Given the description of an element on the screen output the (x, y) to click on. 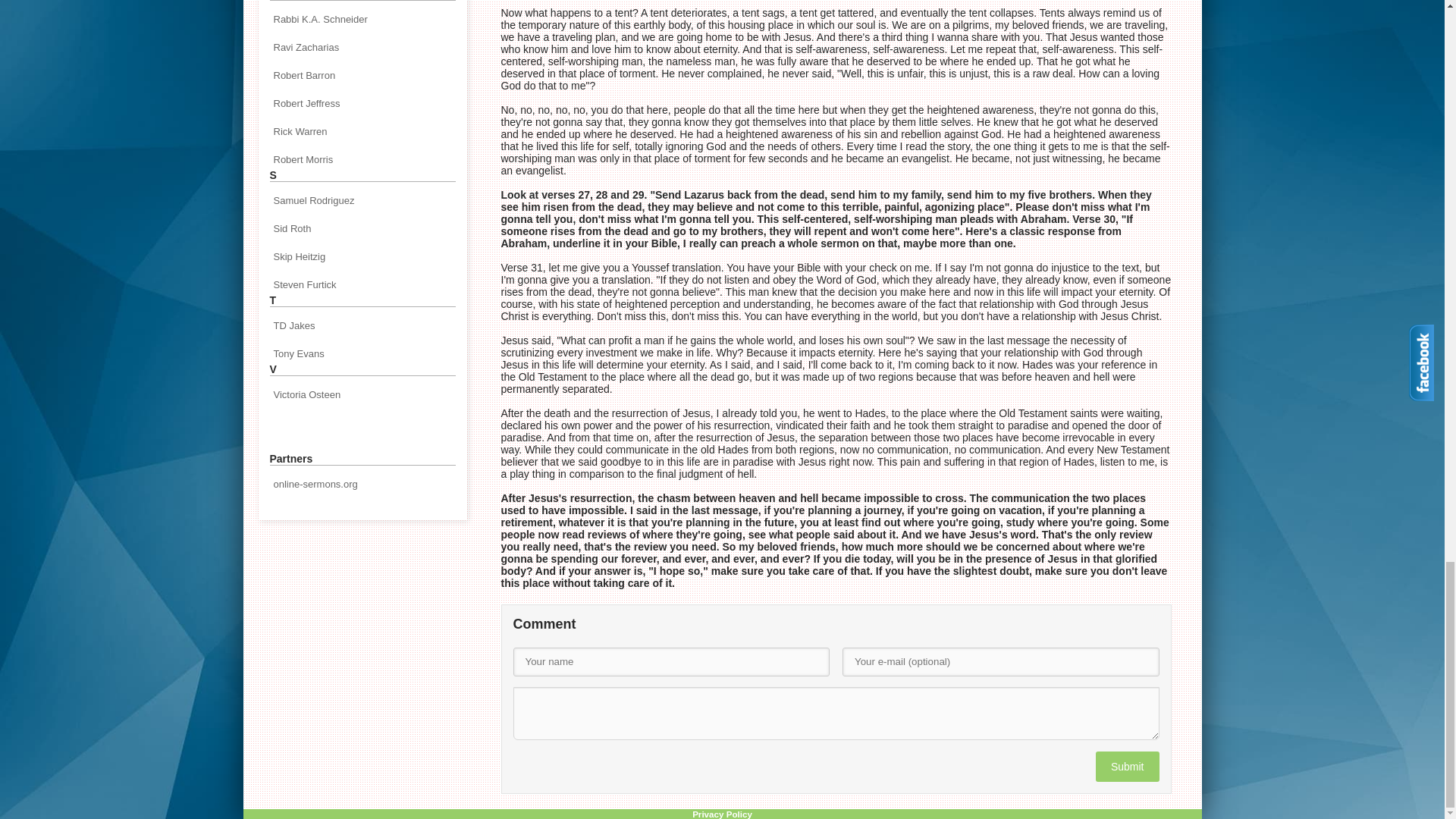
Submit (1127, 766)
